Given the description of an element on the screen output the (x, y) to click on. 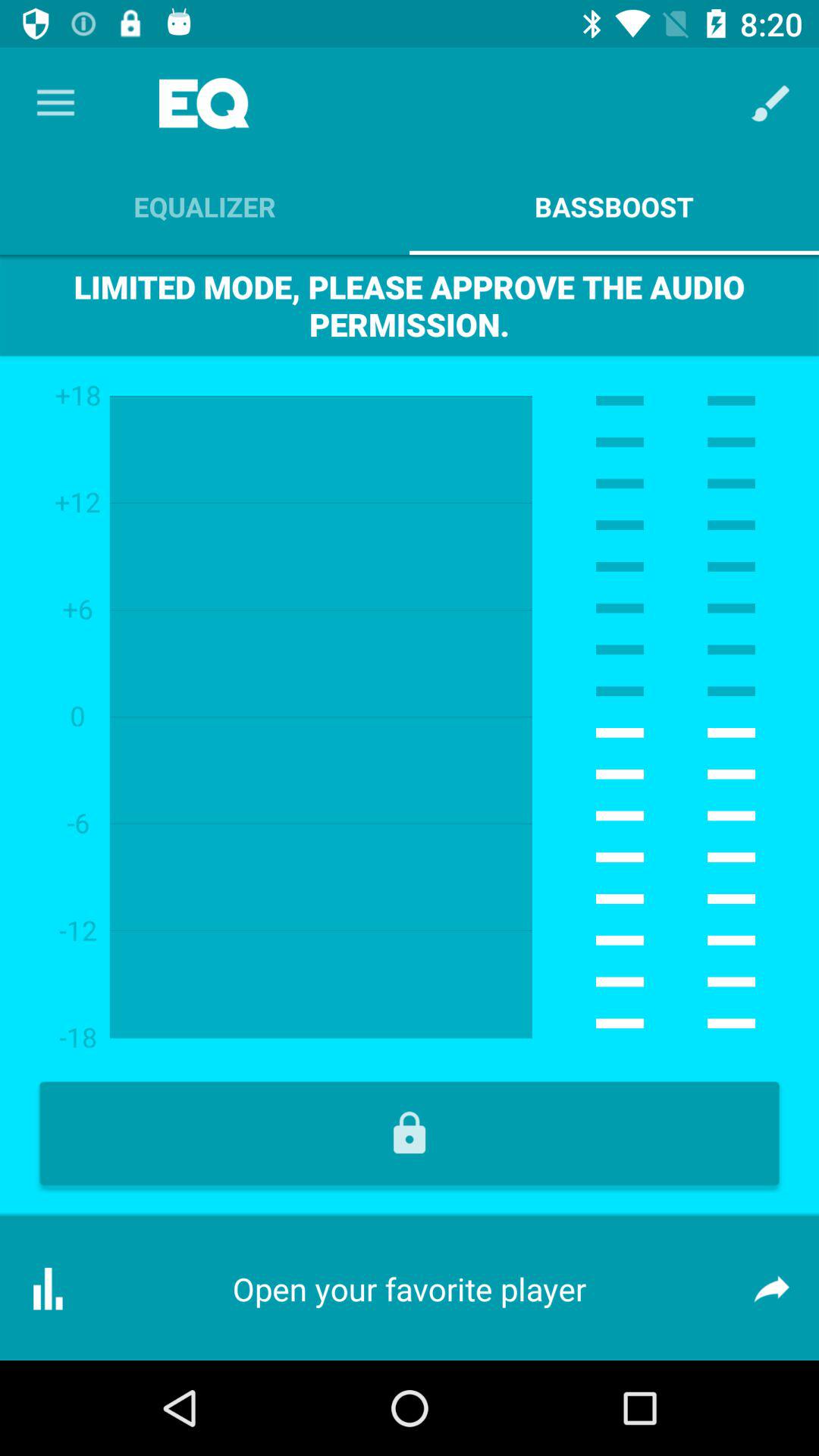
press the item above the bassboost item (771, 103)
